Given the description of an element on the screen output the (x, y) to click on. 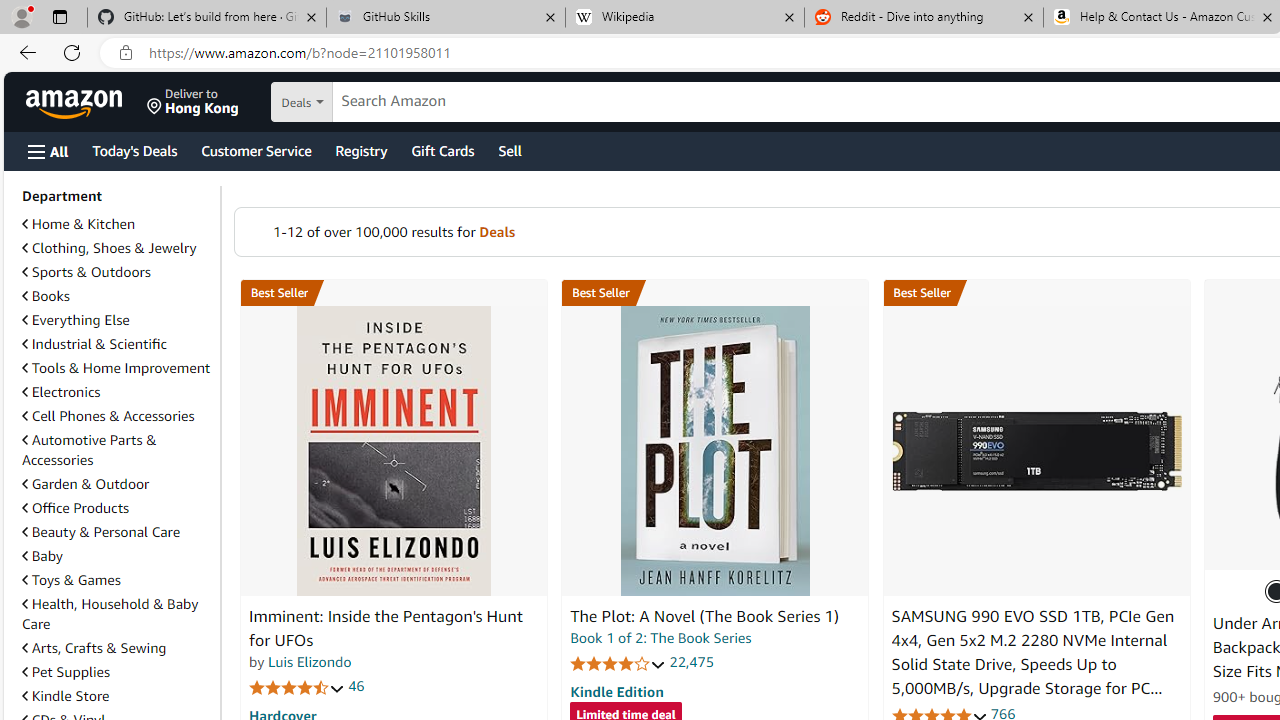
GitHub Skills (445, 17)
Pet Supplies (65, 672)
Amazon (76, 101)
Books (117, 295)
Arts, Crafts & Sewing (117, 647)
Today's Deals (134, 150)
Deliver to Hong Kong (193, 101)
Book 1 of 2: The Book Series (660, 638)
Imminent: Inside the Pentagon's Hunt for UFOs (386, 628)
Industrial & Scientific (117, 344)
